Given the description of an element on the screen output the (x, y) to click on. 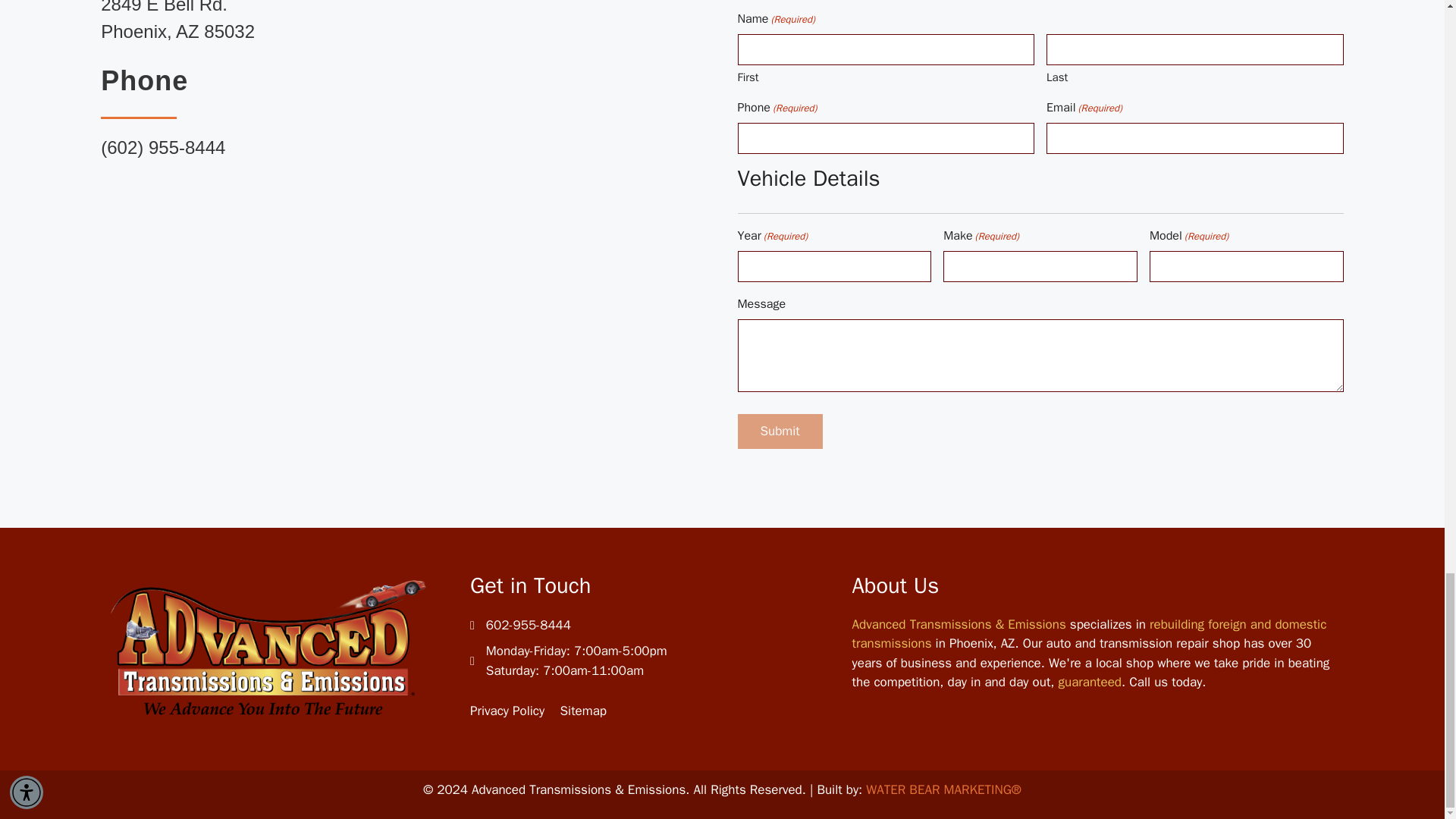
Submit (779, 431)
